Given the description of an element on the screen output the (x, y) to click on. 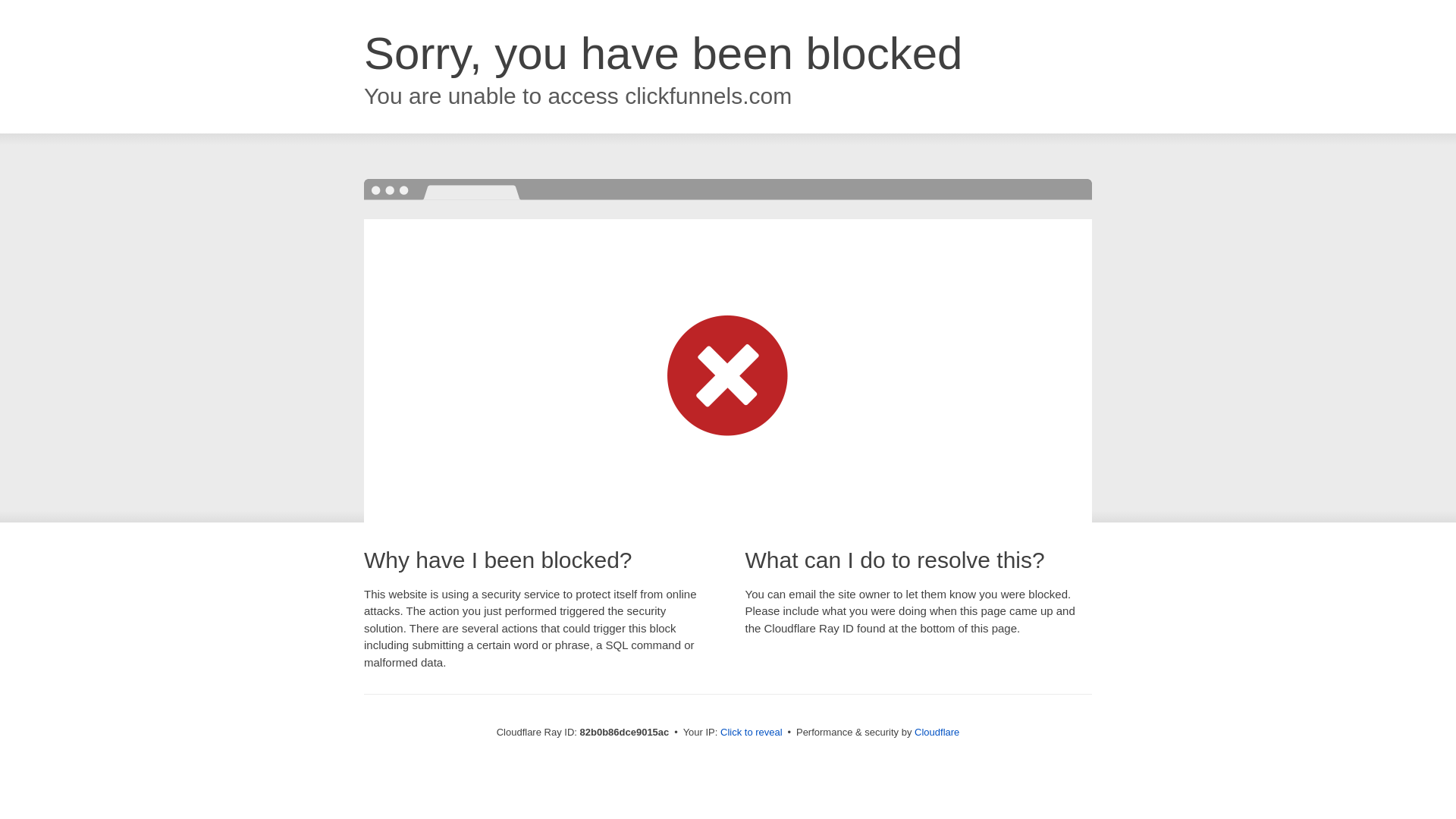
Click to reveal Element type: text (751, 732)
Cloudflare Element type: text (936, 731)
